Given the description of an element on the screen output the (x, y) to click on. 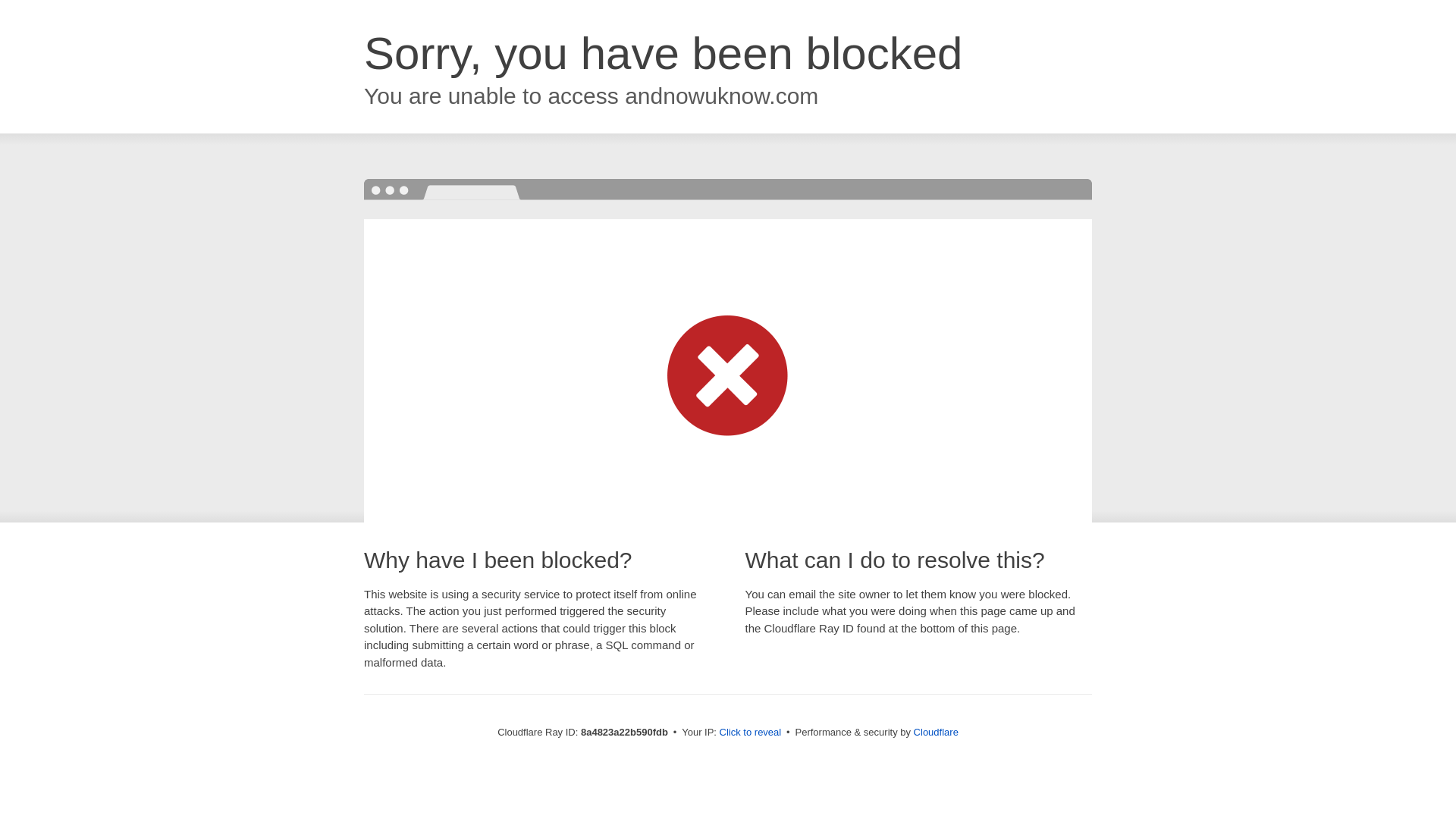
Cloudflare (936, 731)
Click to reveal (750, 732)
